Given the description of an element on the screen output the (x, y) to click on. 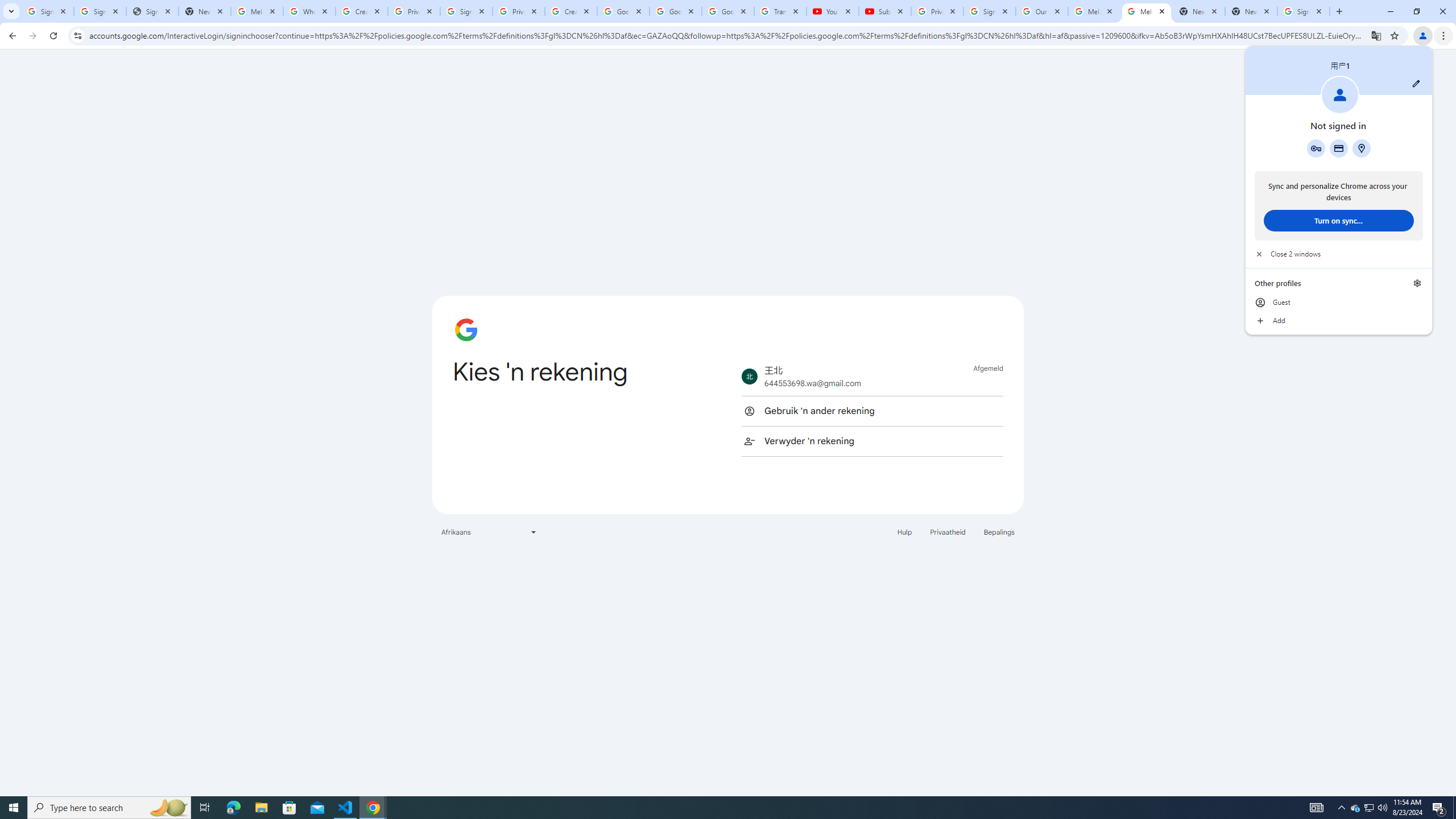
Task View (204, 807)
